Given the description of an element on the screen output the (x, y) to click on. 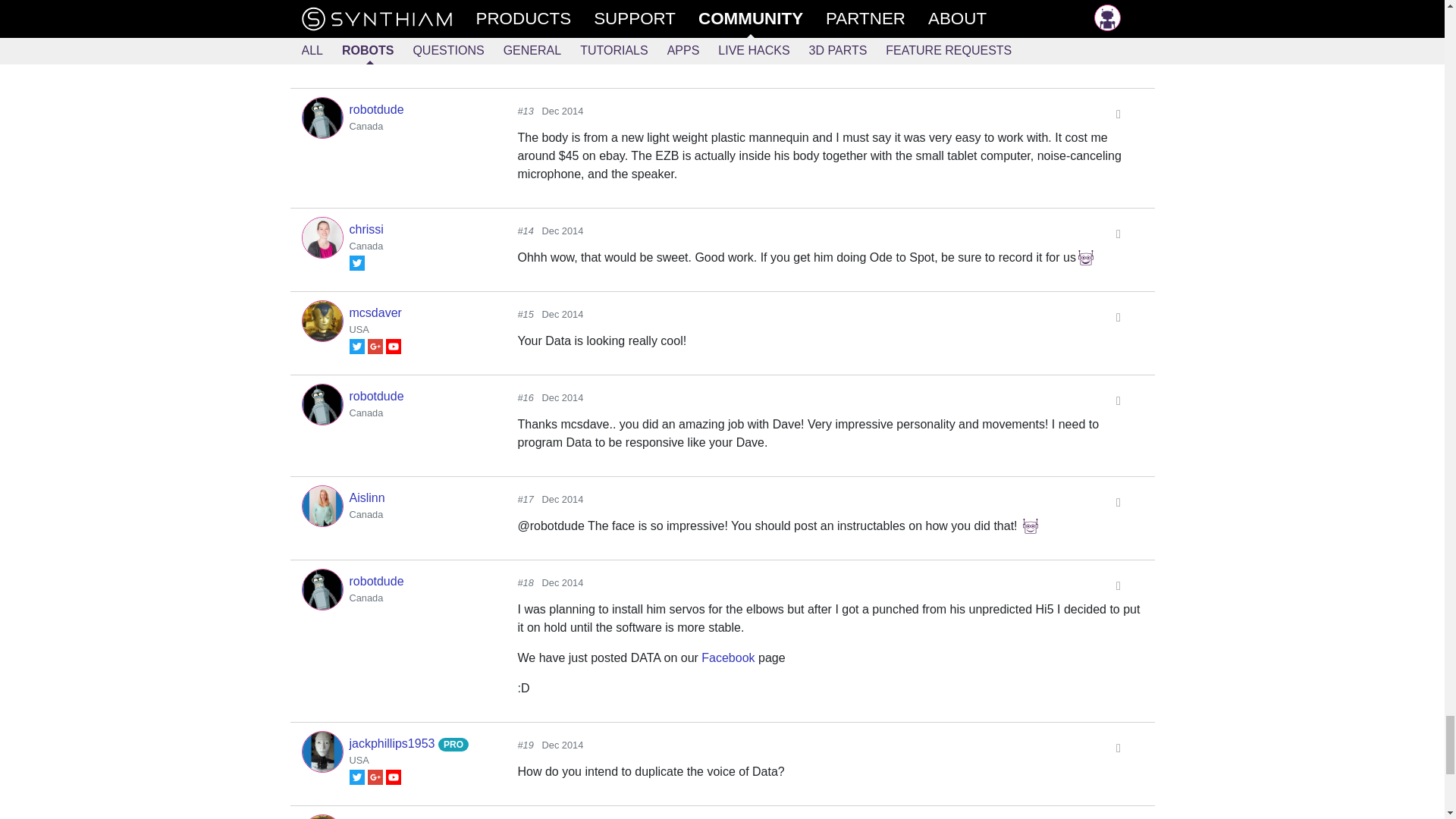
2014-12-12 11:41 UTC (562, 397)
2014-12-12 12:17 UTC (562, 499)
2014-12-10 16:44 UTC (562, 111)
2014-12-12 01:13 UTC (562, 314)
2014-12-12 12:22 UTC (562, 582)
2014-12-10 17:09 UTC (562, 230)
